Given the description of an element on the screen output the (x, y) to click on. 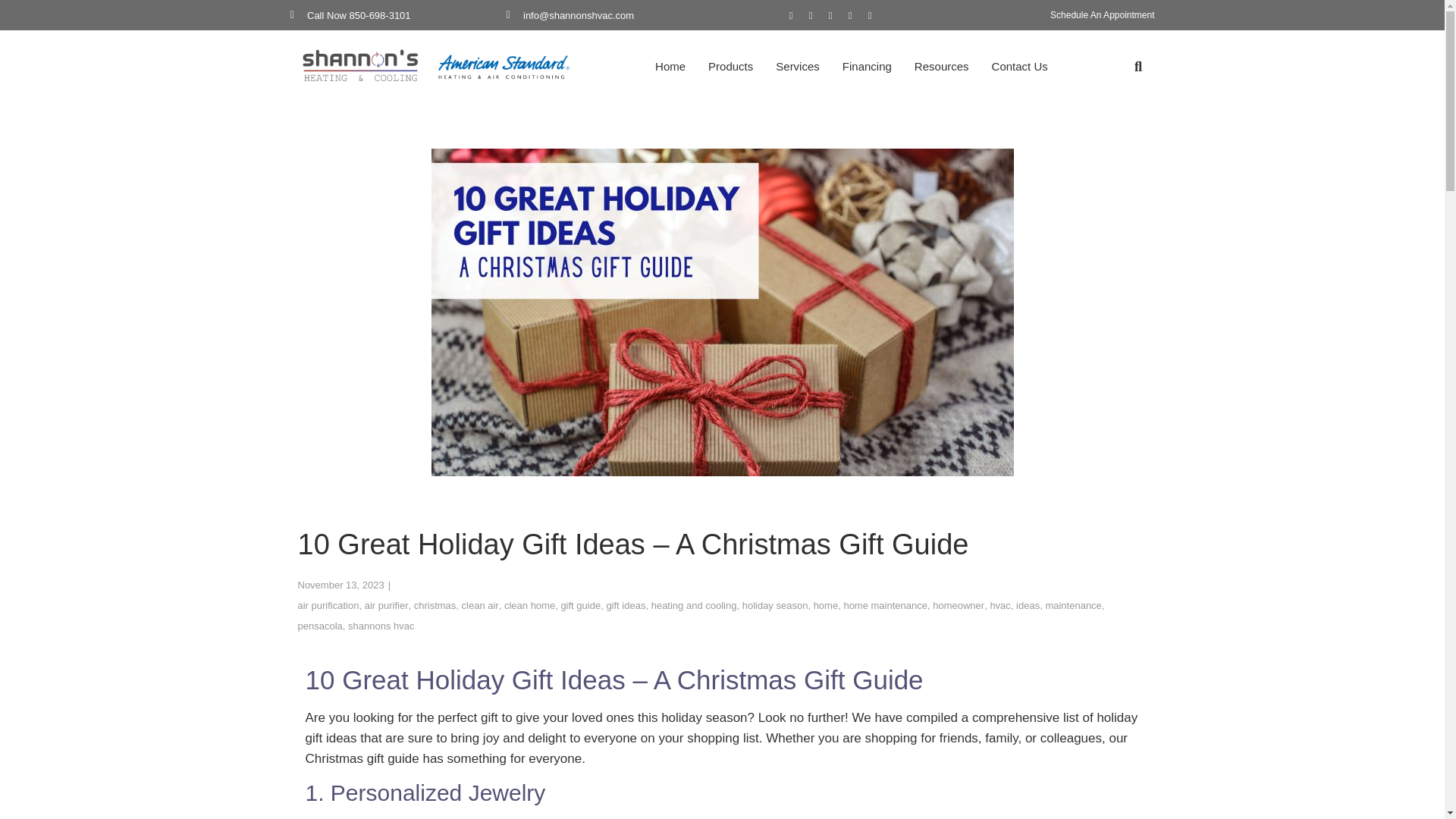
Contact Us (1019, 66)
Resources (940, 66)
Call Now 850-698-3101 (397, 14)
Products (730, 66)
Financing (866, 66)
Services (797, 66)
Schedule An Appointment (1101, 14)
